Given the description of an element on the screen output the (x, y) to click on. 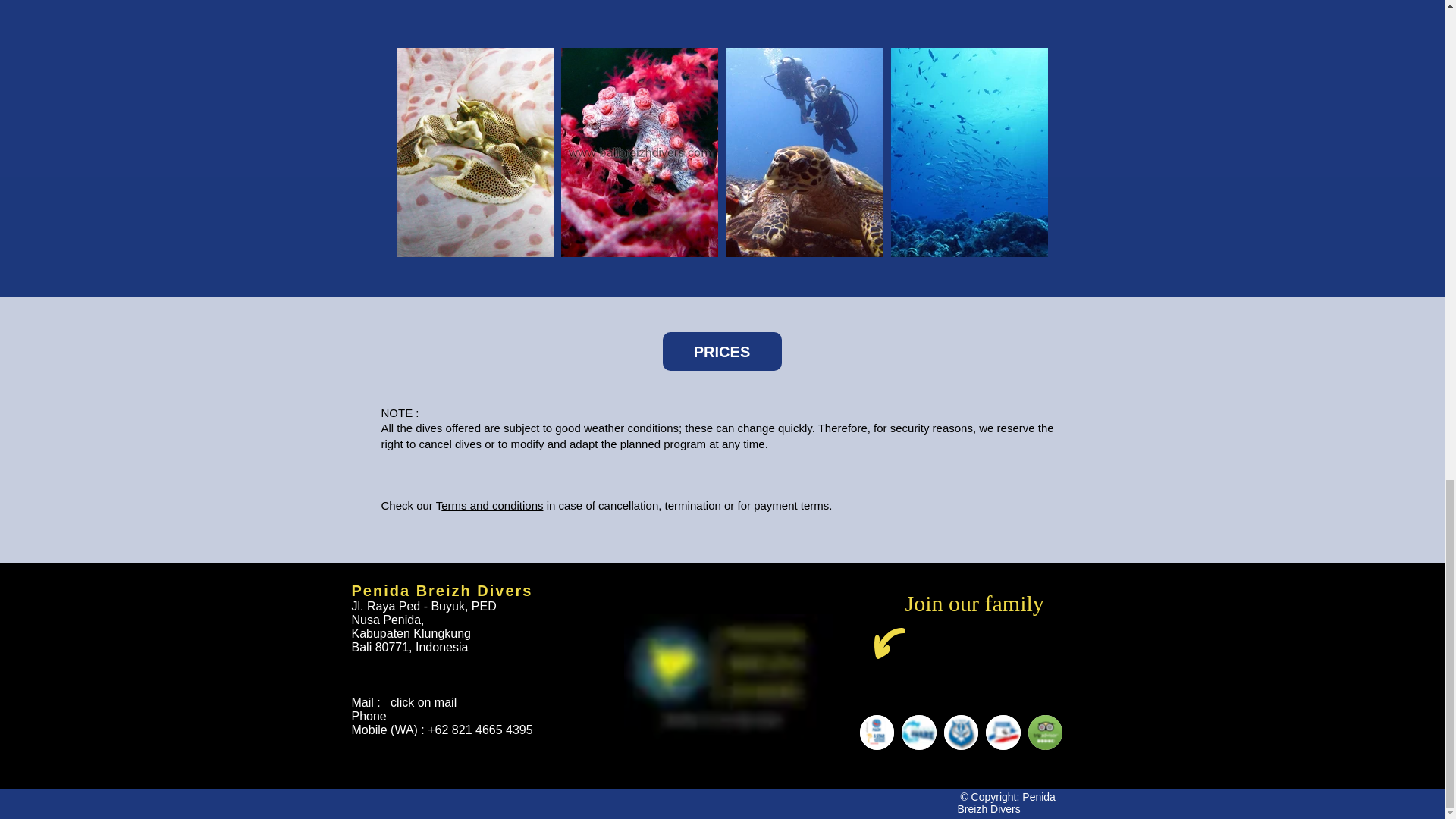
erms and conditions (492, 504)
PRICES (721, 351)
Mail (363, 702)
